Given the description of an element on the screen output the (x, y) to click on. 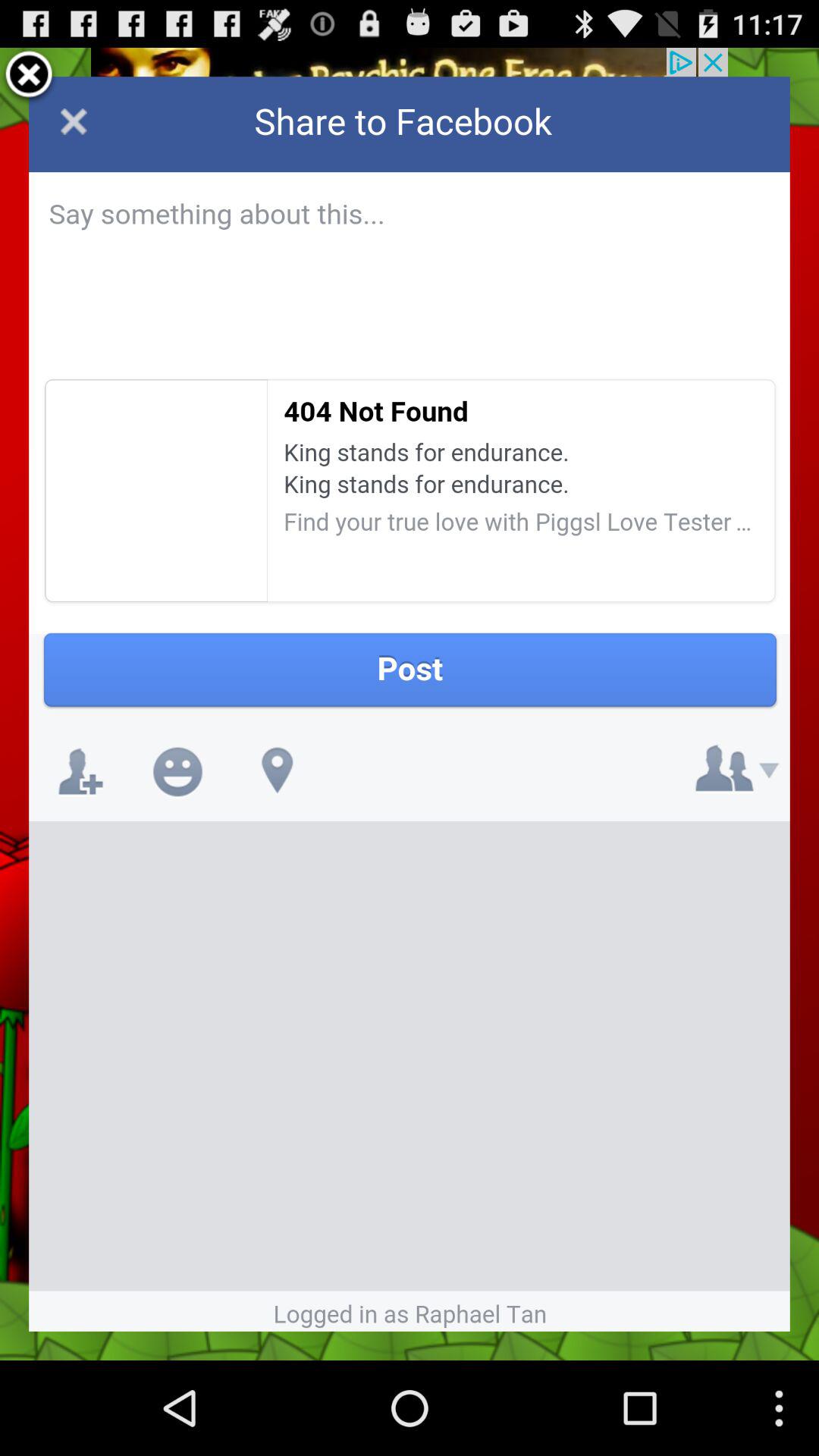
close screen (29, 76)
